Given the description of an element on the screen output the (x, y) to click on. 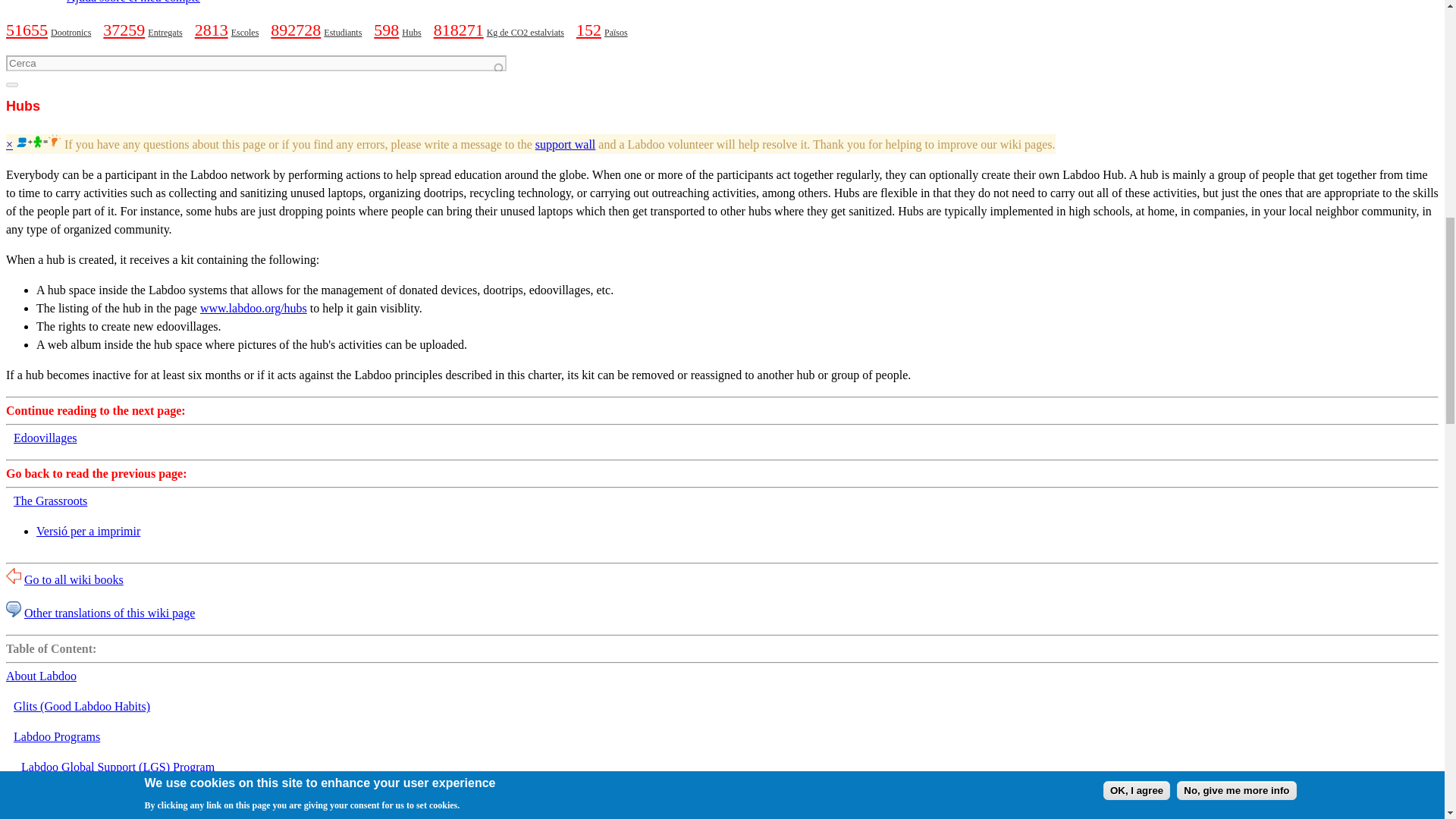
Ajuda sobre el meu compte (133, 2)
